Given the description of an element on the screen output the (x, y) to click on. 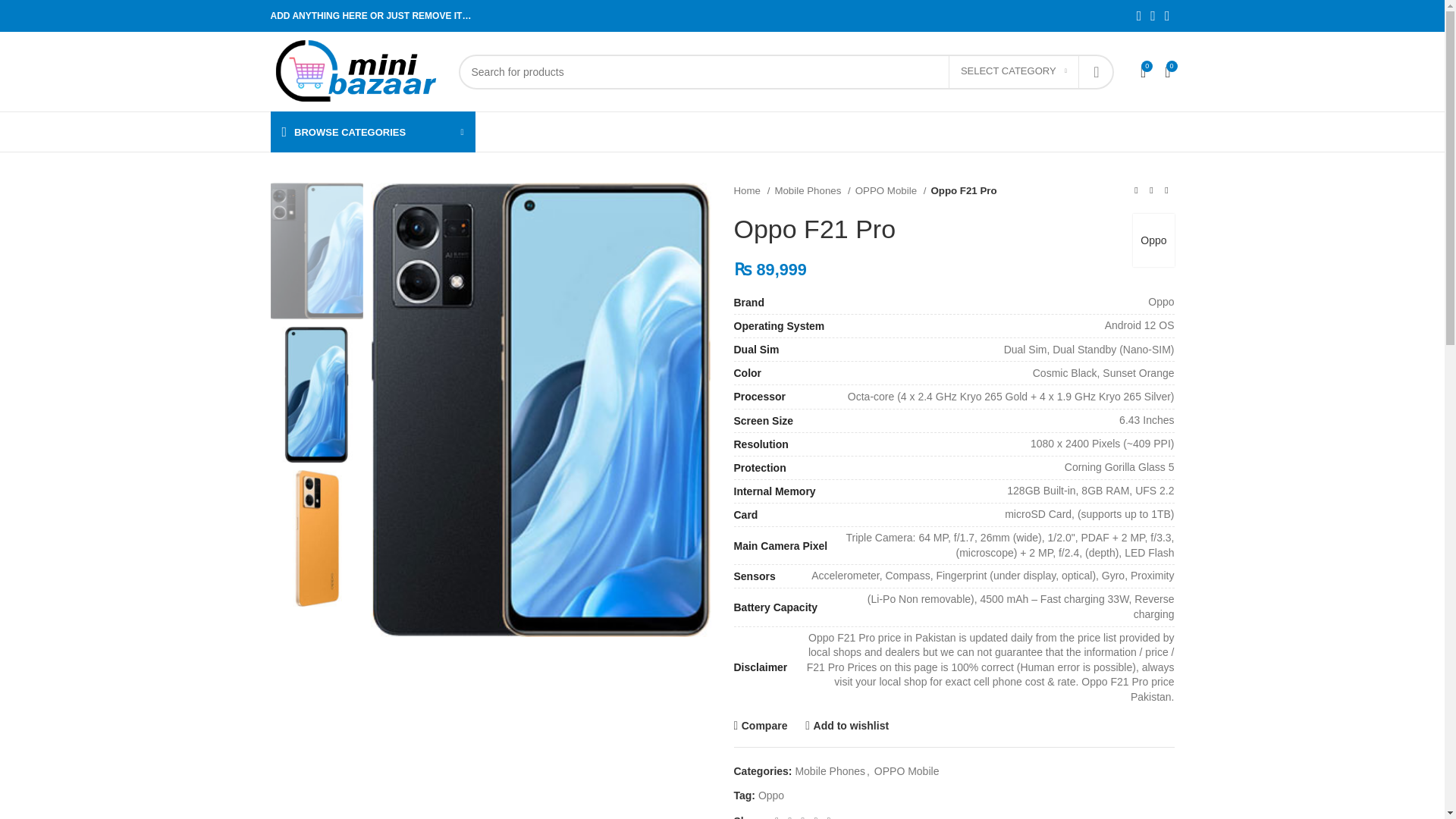
SEARCH (1095, 71)
SELECT CATEGORY (1013, 71)
Search for products (785, 71)
SELECT CATEGORY (1013, 71)
